Given the description of an element on the screen output the (x, y) to click on. 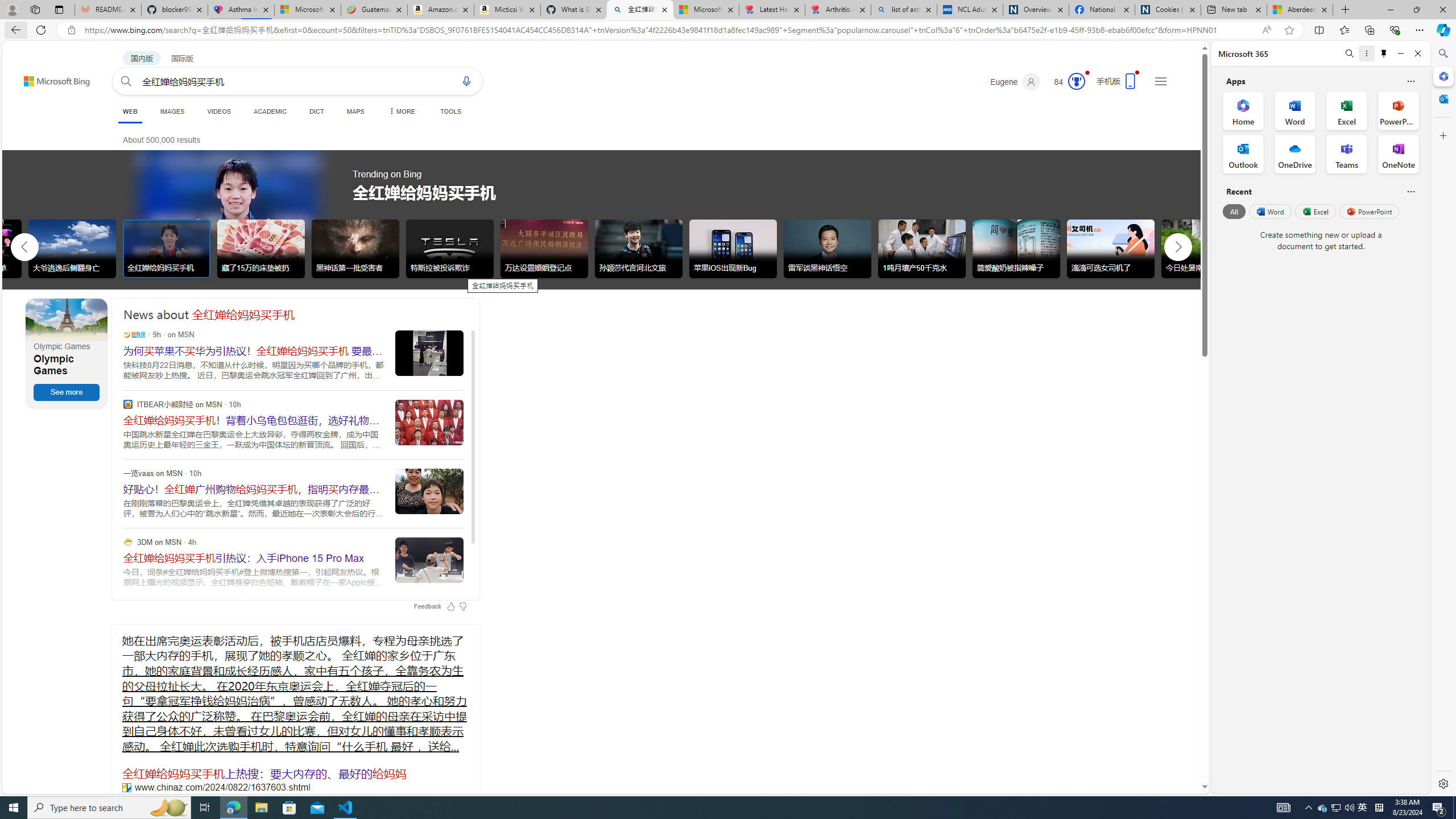
Home Office App (1243, 110)
Dropdown Menu (400, 111)
PowerPoint (1369, 210)
Search button (126, 80)
Microsoft Rewards 84 (1065, 81)
